Given the description of an element on the screen output the (x, y) to click on. 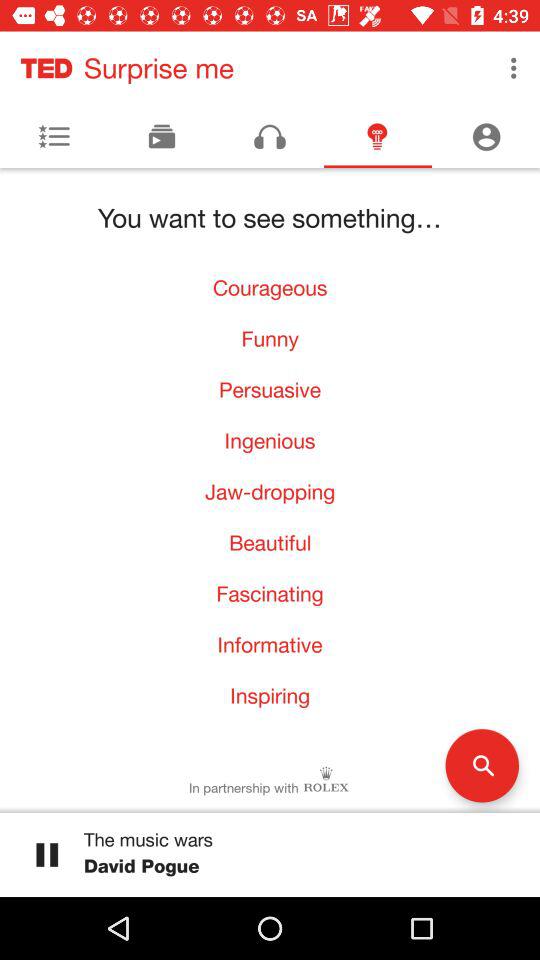
swipe to fascinating icon (270, 593)
